Given the description of an element on the screen output the (x, y) to click on. 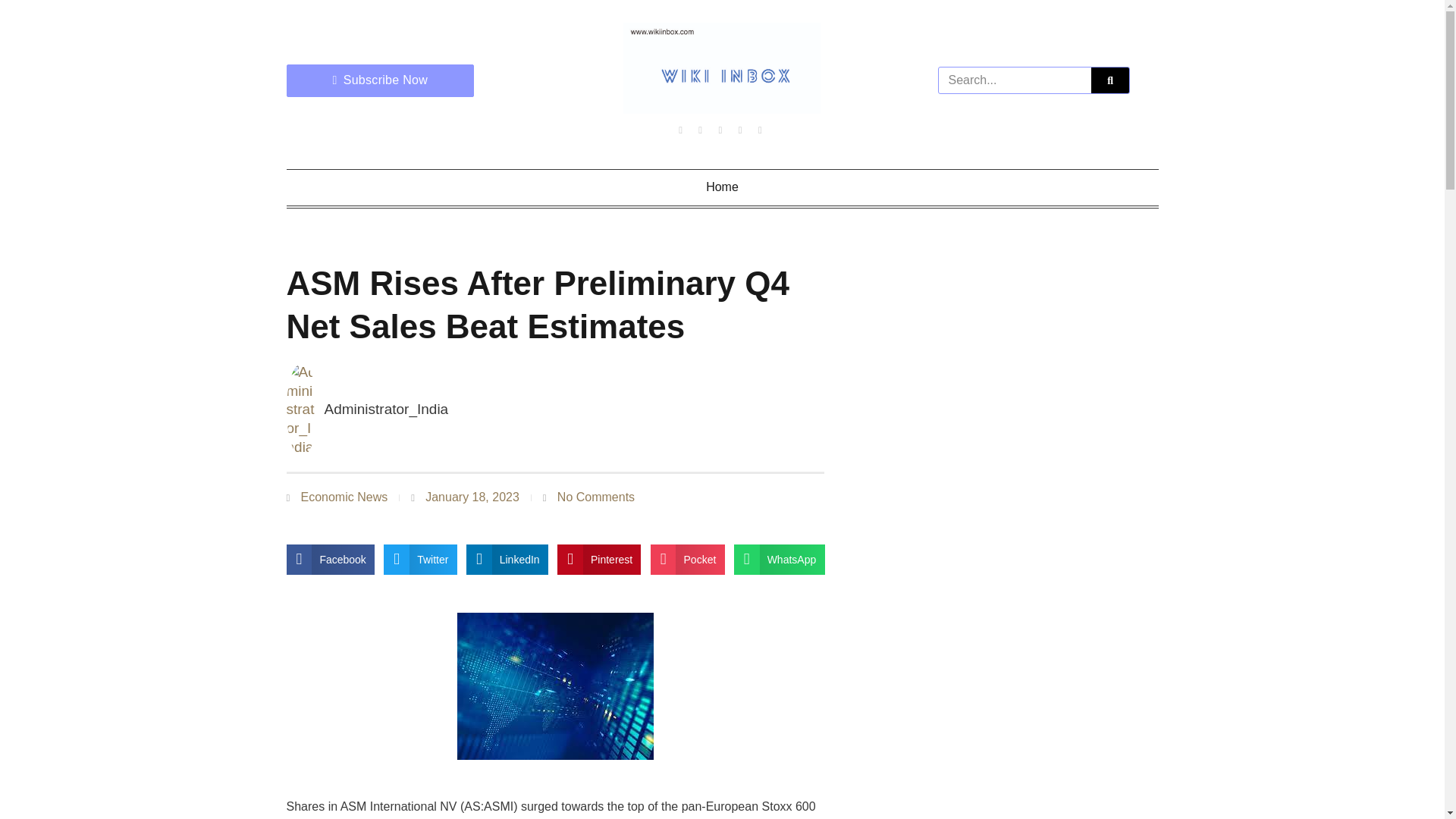
Economic News (343, 496)
Subscribe Now (380, 80)
Search (1109, 80)
Home (722, 187)
January 18, 2023 (464, 497)
Search (1014, 80)
No Comments (588, 497)
